Given the description of an element on the screen output the (x, y) to click on. 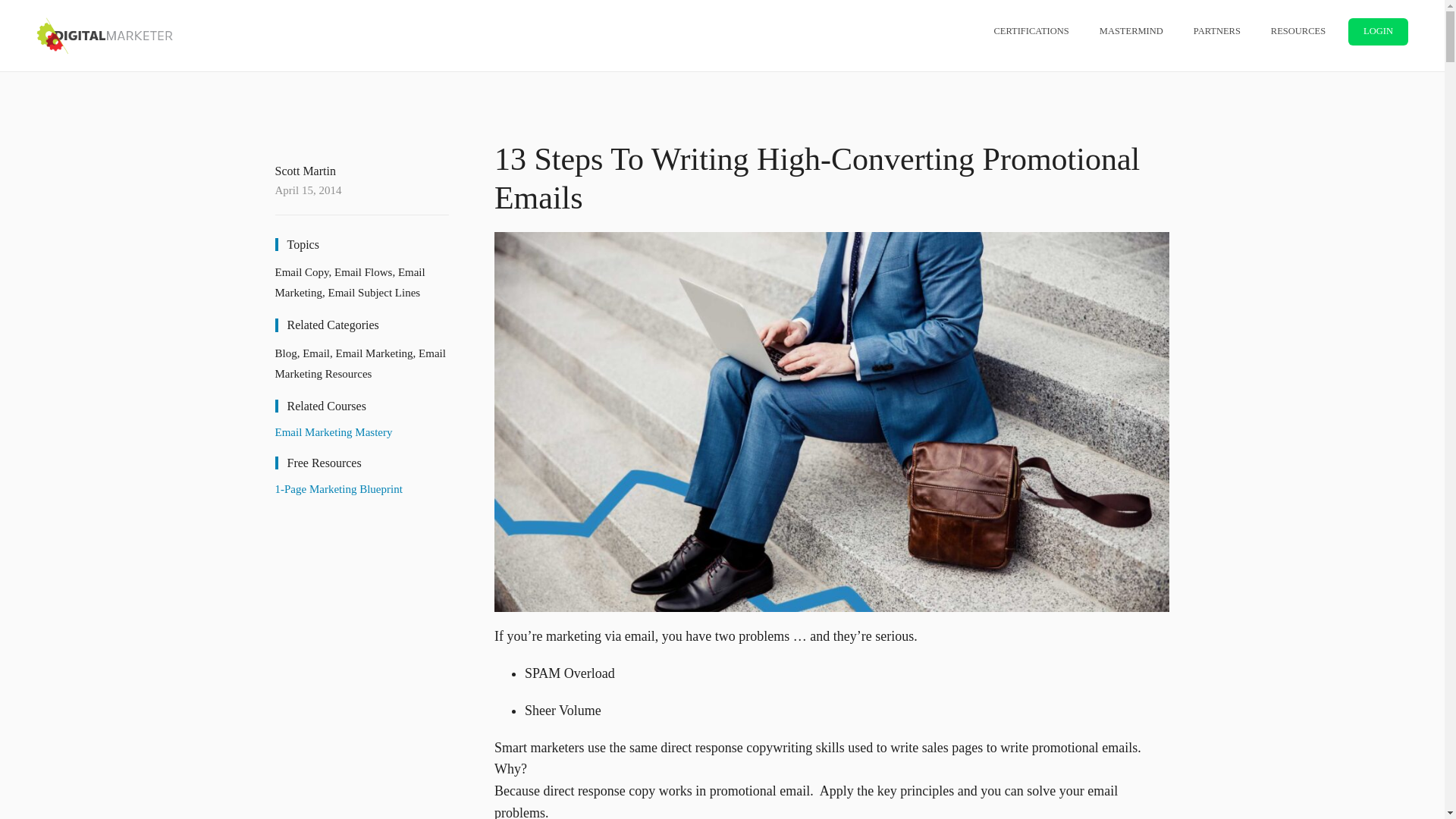
MASTERMIND (1130, 31)
RESOURCES (1297, 31)
PARTNERS (1216, 31)
CERTIFICATIONS (1031, 31)
LOGIN (1377, 31)
